Given the description of an element on the screen output the (x, y) to click on. 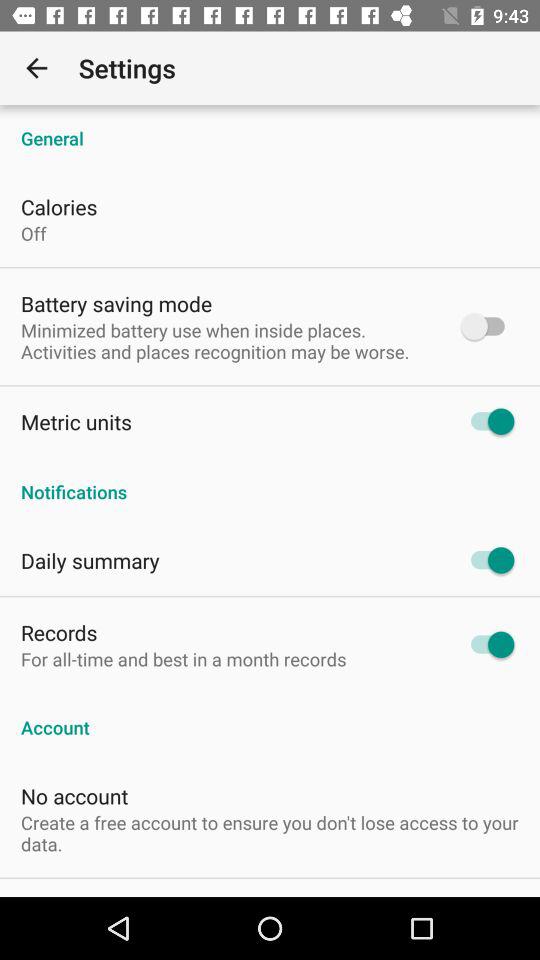
open app to the left of settings item (36, 68)
